Given the description of an element on the screen output the (x, y) to click on. 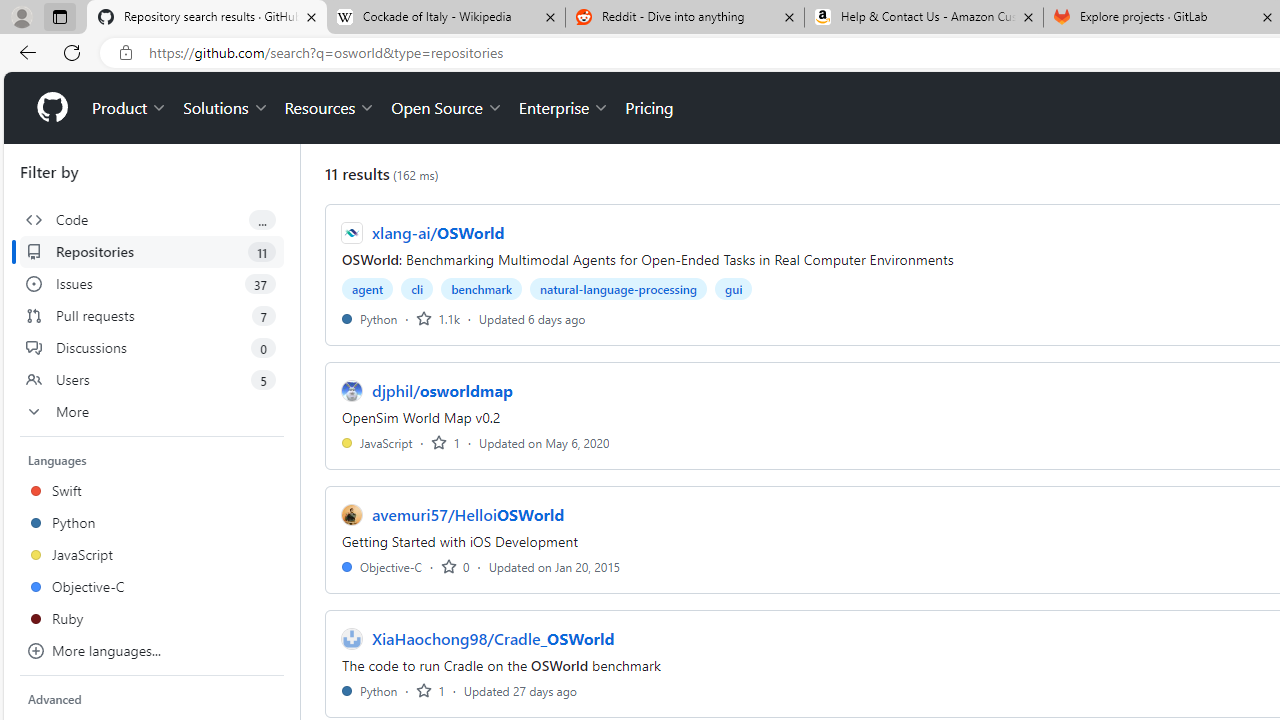
Open Source (446, 107)
natural-language-processing (618, 288)
Python (369, 690)
Open Source (446, 107)
Updated on Jan 20, 2015 (553, 566)
Cockade of Italy - Wikipedia (445, 17)
More languages... (152, 650)
Enterprise (563, 107)
